Given the description of an element on the screen output the (x, y) to click on. 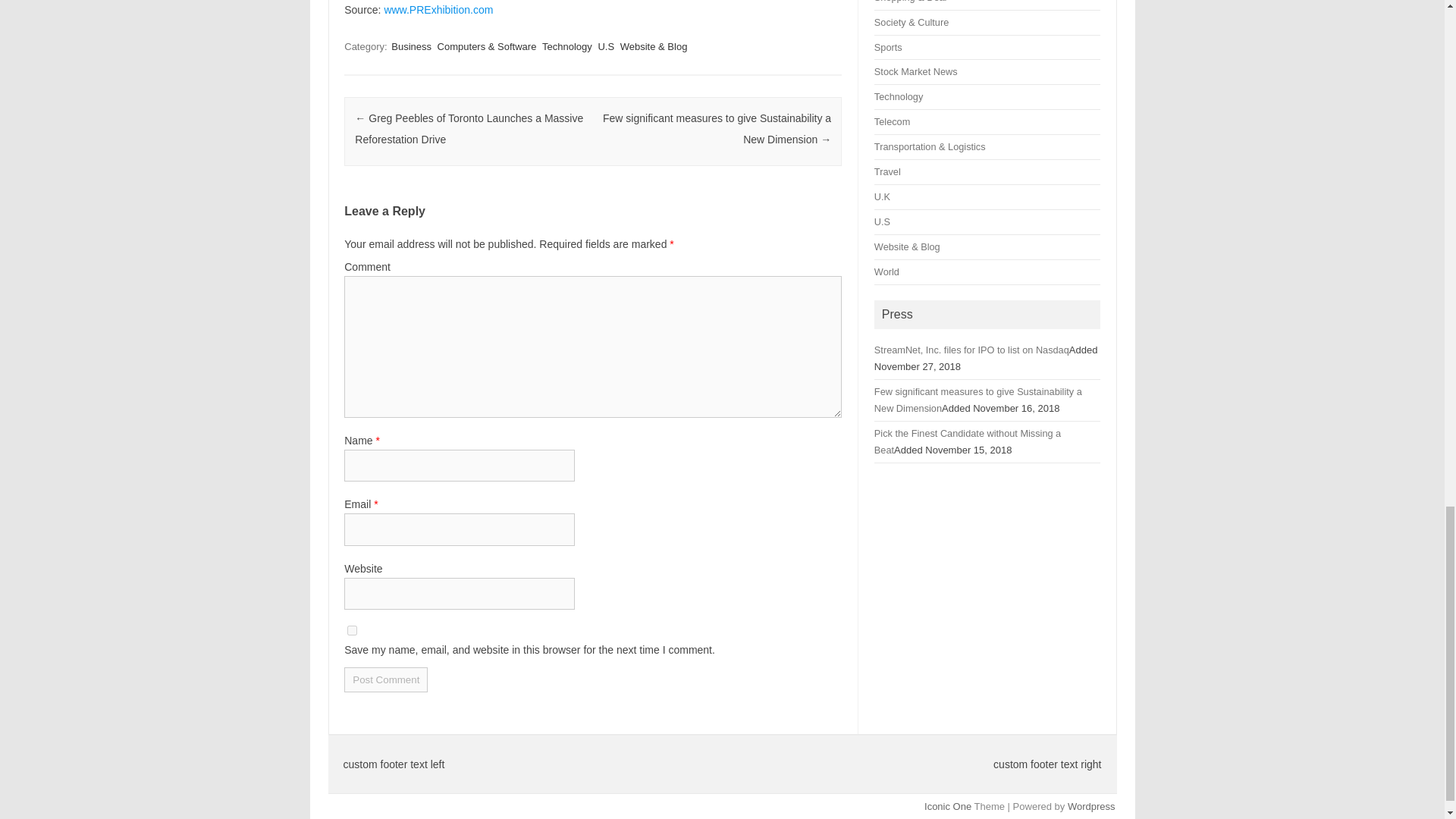
yes (351, 630)
Business (411, 46)
U.S (605, 46)
Technology (567, 46)
www.PRExhibition.com (438, 9)
Post Comment (385, 679)
Post Comment (385, 679)
